Given the description of an element on the screen output the (x, y) to click on. 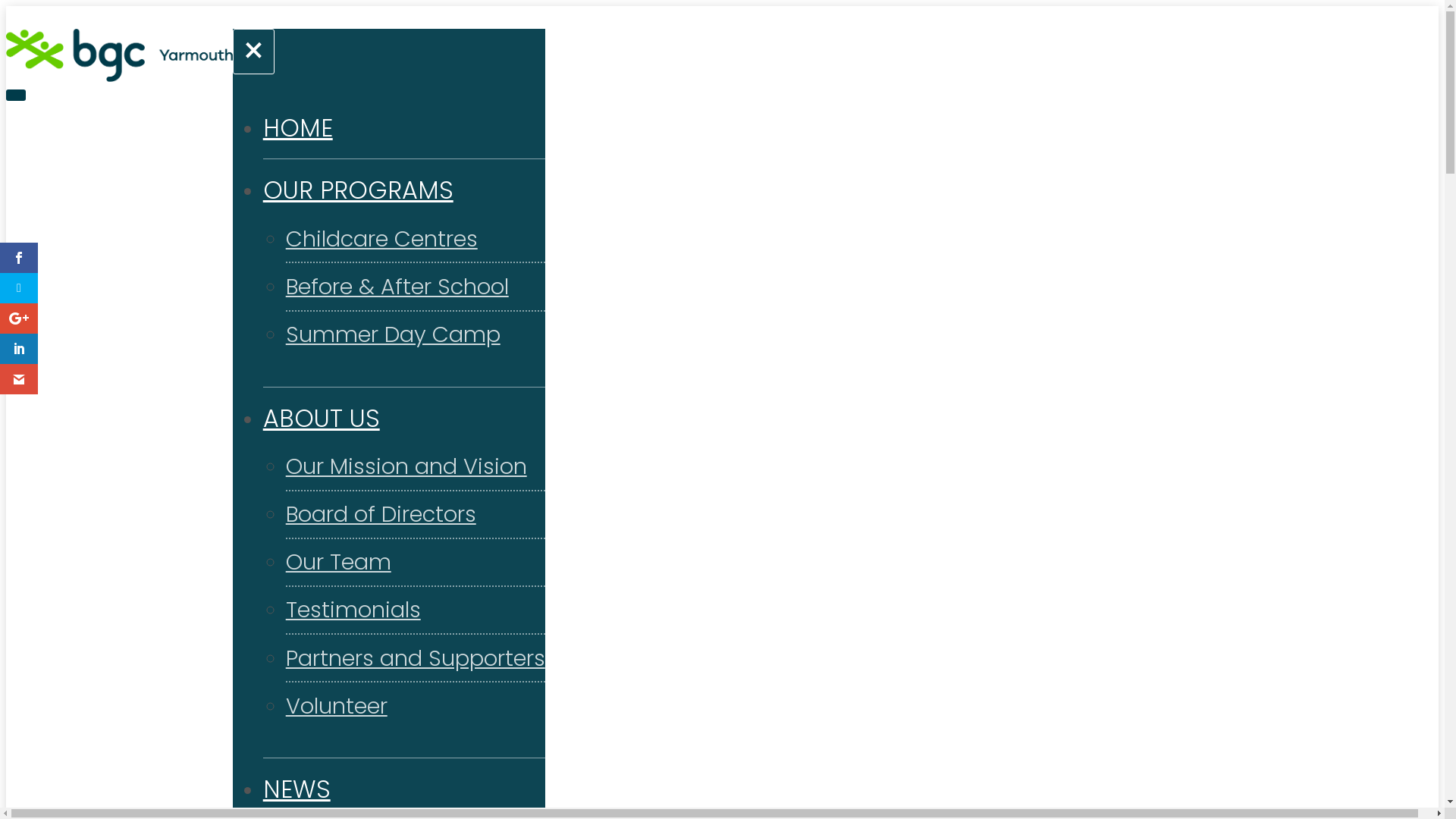
Board of Directors Element type: text (380, 513)
NEWS Element type: text (296, 788)
HOME Element type: text (297, 127)
Volunteer Element type: text (336, 705)
OUR PROGRAMS Element type: text (358, 189)
Childcare Centres Element type: text (381, 238)
Our Team Element type: text (338, 561)
Testimonials Element type: text (352, 609)
ABOUT US Element type: text (321, 418)
Partners and Supporters Element type: text (415, 658)
Our Mission and Vision Element type: text (406, 466)
Summer Day Camp Element type: text (392, 334)
Before & After School Element type: text (396, 286)
